Given the description of an element on the screen output the (x, y) to click on. 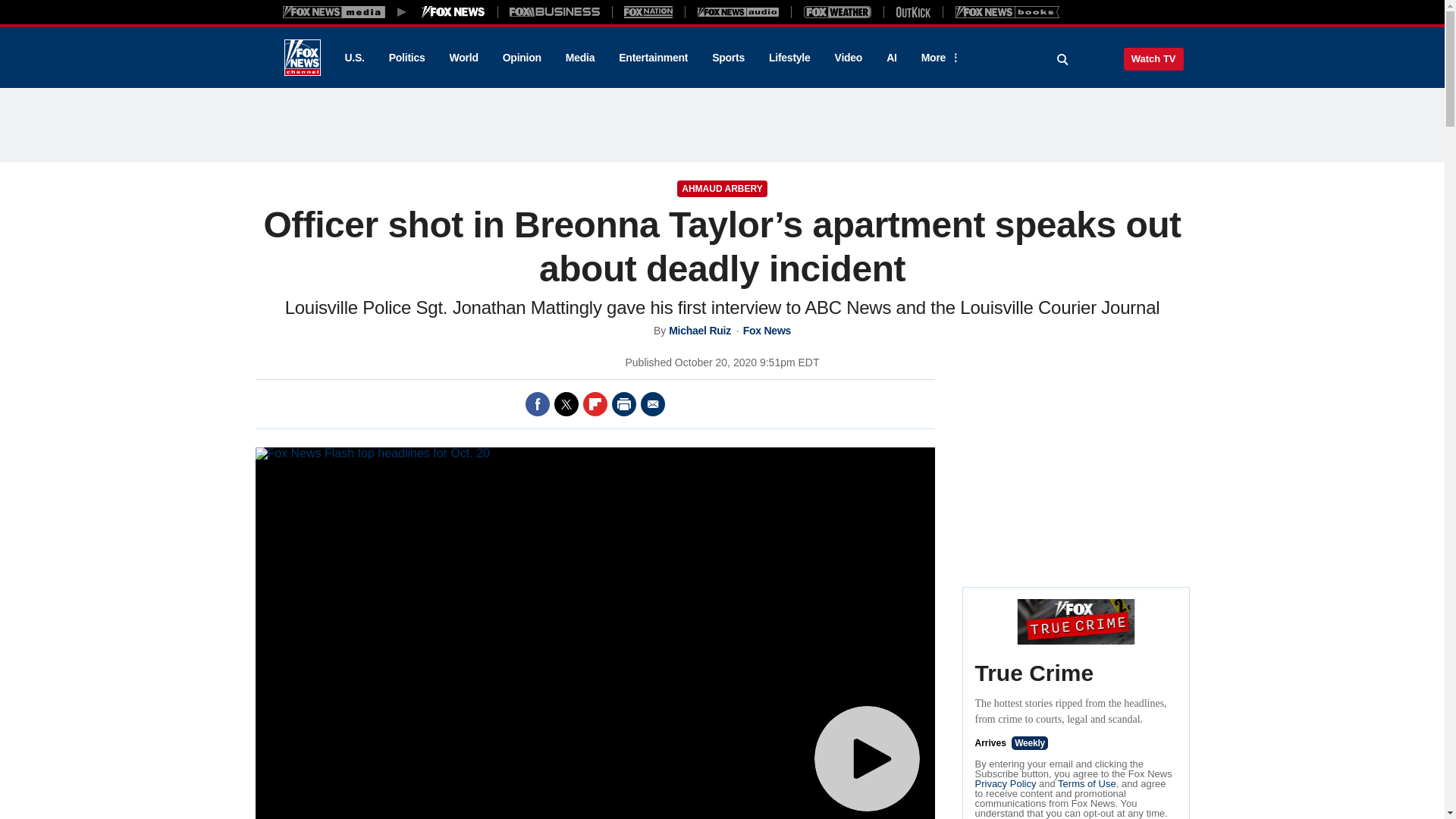
Fox News (301, 57)
Opinion (521, 57)
Fox News Audio (737, 11)
Books (1007, 11)
Media (580, 57)
Fox News Media (453, 11)
Sports (728, 57)
U.S. (353, 57)
Lifestyle (789, 57)
Fox Nation (648, 11)
